Given the description of an element on the screen output the (x, y) to click on. 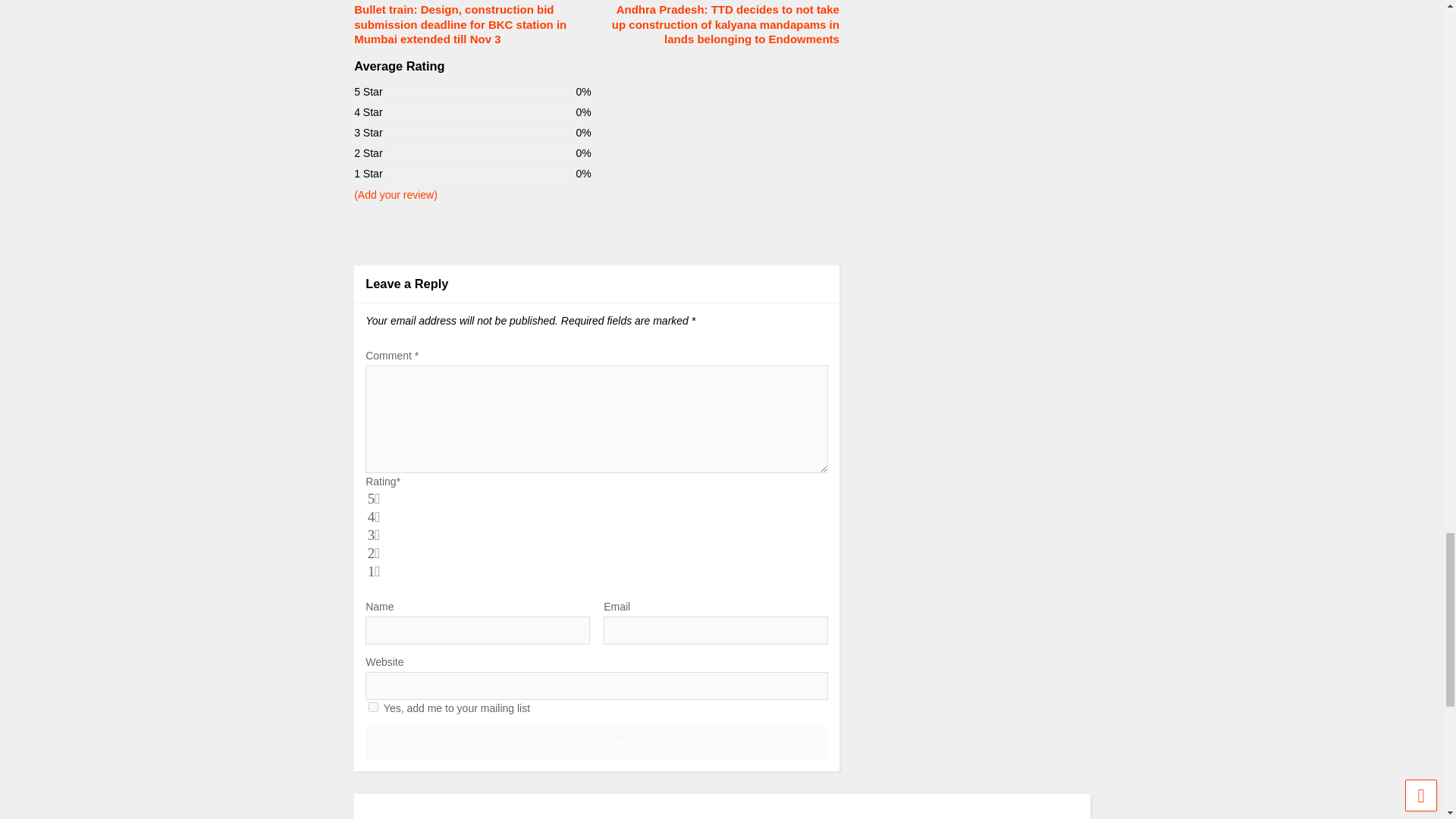
Post Comment (596, 742)
1 (373, 706)
